Given the description of an element on the screen output the (x, y) to click on. 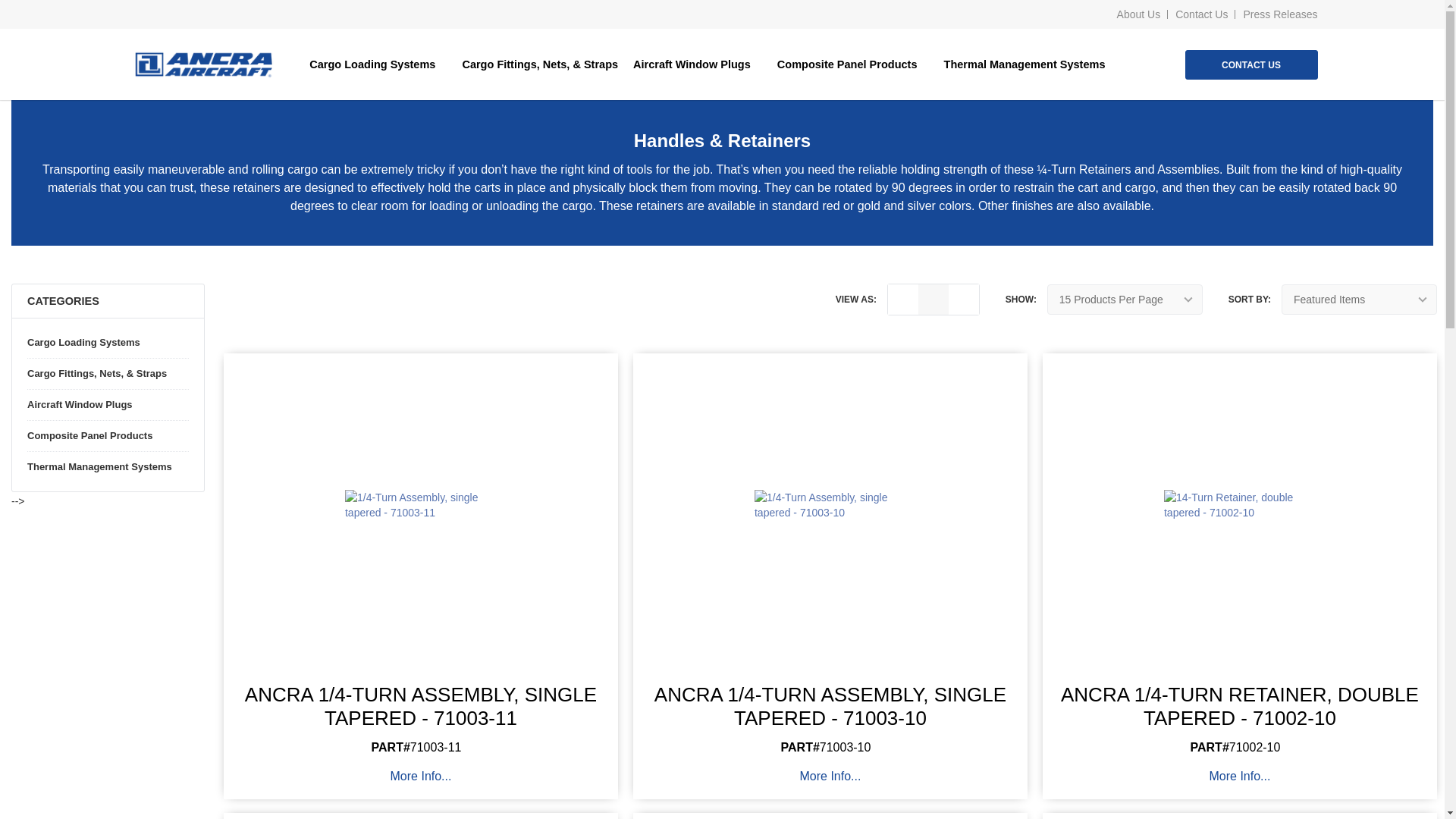
Grid View 4 (963, 299)
Ancra International (203, 64)
14-Turn Retainer, double tapered - 71002-10 (1239, 504)
List View (903, 299)
Grid View 3 (933, 299)
